Given the description of an element on the screen output the (x, y) to click on. 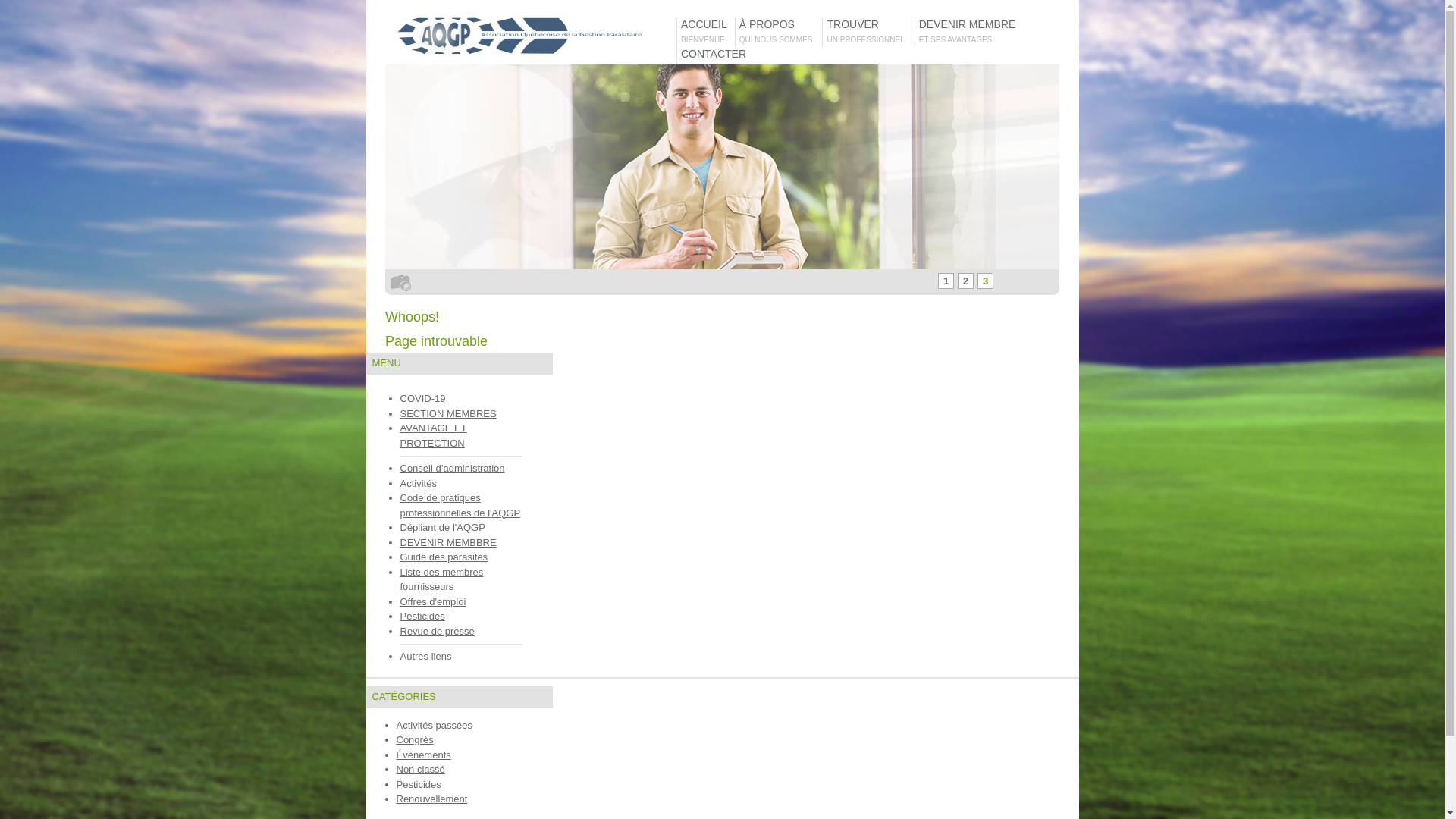
COVID-19 Element type: text (422, 398)
DEVENIR MEMBRE  
ET SES AVANTAGES Element type: text (968, 32)
2 Element type: text (965, 280)
Renouvellement Element type: text (431, 798)
TROUVER
UN PROFESSIONNEL Element type: text (868, 32)
ACCUEIL
BIENVENUE Element type: text (705, 32)
Autres liens Element type: text (425, 656)
SECTION MEMBRES Element type: text (448, 413)
1 Element type: text (945, 280)
Code de pratiques professionnelles de l'AQGP Element type: text (460, 505)
3 Element type: text (985, 280)
Pesticides Element type: text (422, 615)
Revue de presse Element type: text (437, 631)
DEVENIR MEMBBRE Element type: text (448, 542)
Pesticides Element type: text (417, 784)
Offres d'emploi Element type: text (433, 601)
CONTACTER
L'AQGP Element type: text (711, 61)
Guide des parasites Element type: text (444, 556)
AVANTAGE ET PROTECTION Element type: text (433, 435)
Liste des membres fournisseurs Element type: text (441, 579)
